Given the description of an element on the screen output the (x, y) to click on. 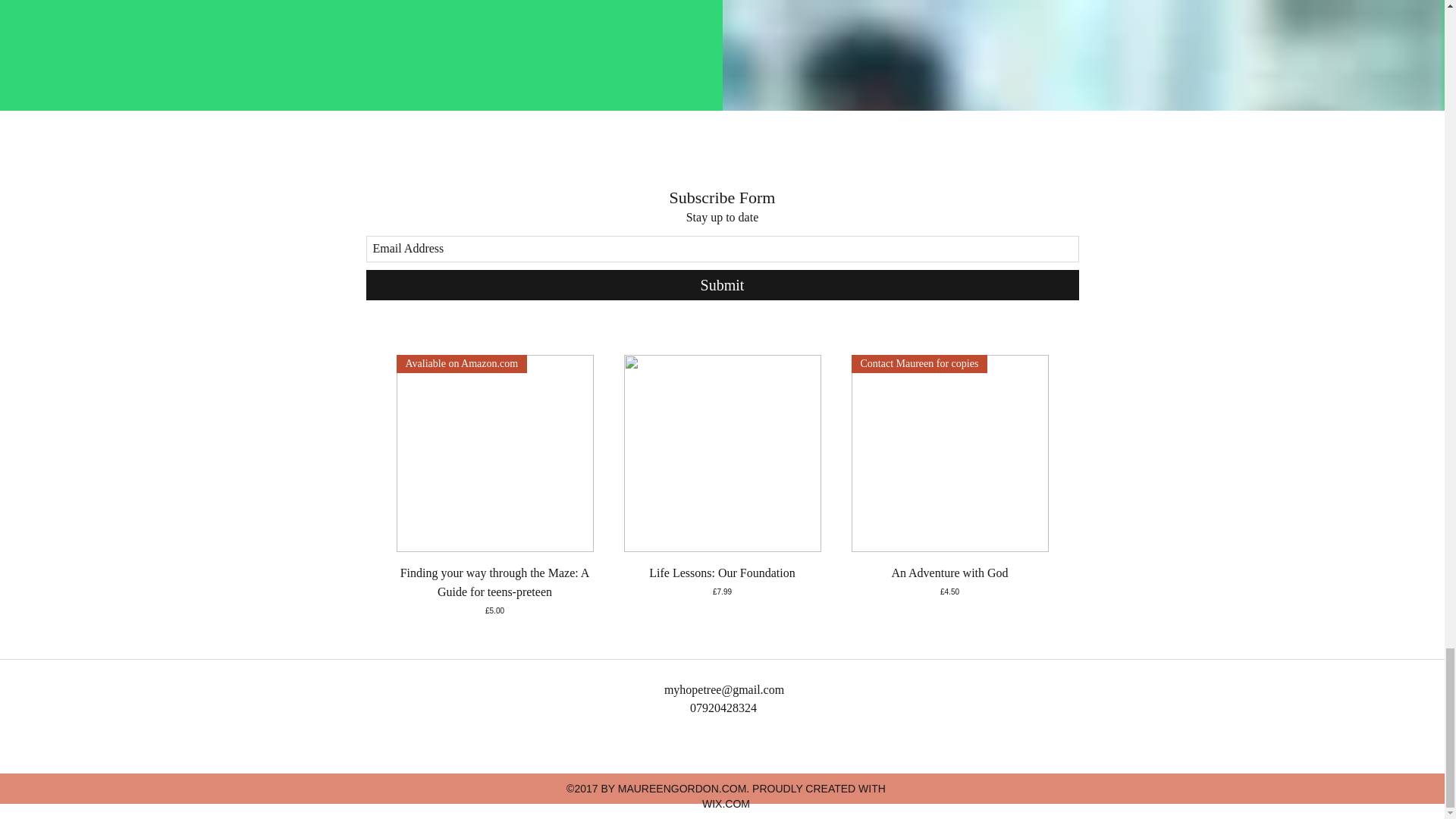
Submit (721, 285)
Avaliable on Amazon.com (494, 453)
Contact Maureen for copies (949, 453)
